Given the description of an element on the screen output the (x, y) to click on. 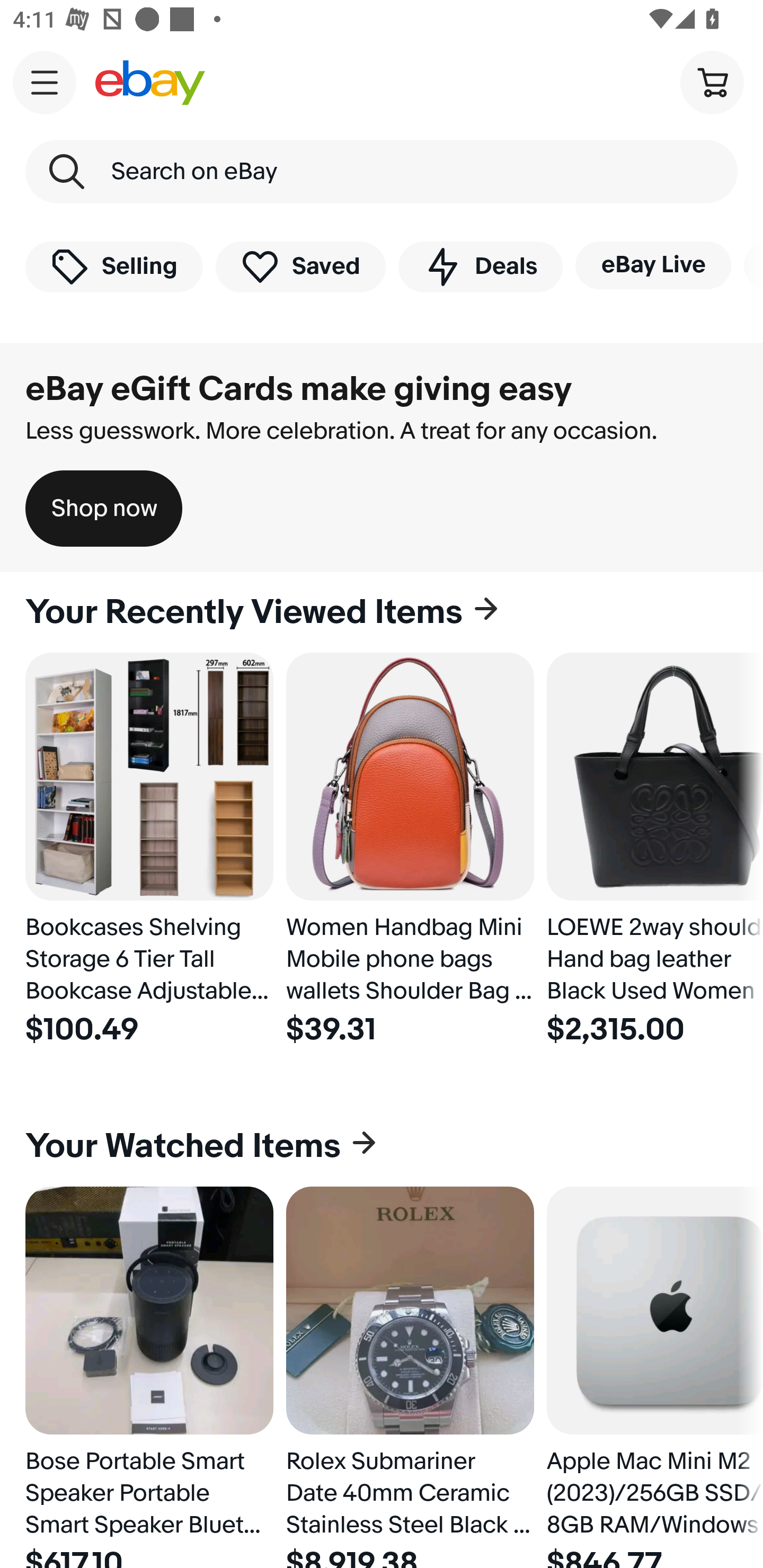
Main navigation, open (44, 82)
Cart button shopping cart (711, 81)
Search on eBay Search Keyword Search on eBay (381, 171)
Selling (113, 266)
Saved (300, 266)
Deals (480, 266)
eBay Live (652, 264)
eBay eGift Cards make giving easy (298, 389)
Shop now (103, 508)
Your Recently Viewed Items   (381, 612)
Your Watched Items   (381, 1145)
